Given the description of an element on the screen output the (x, y) to click on. 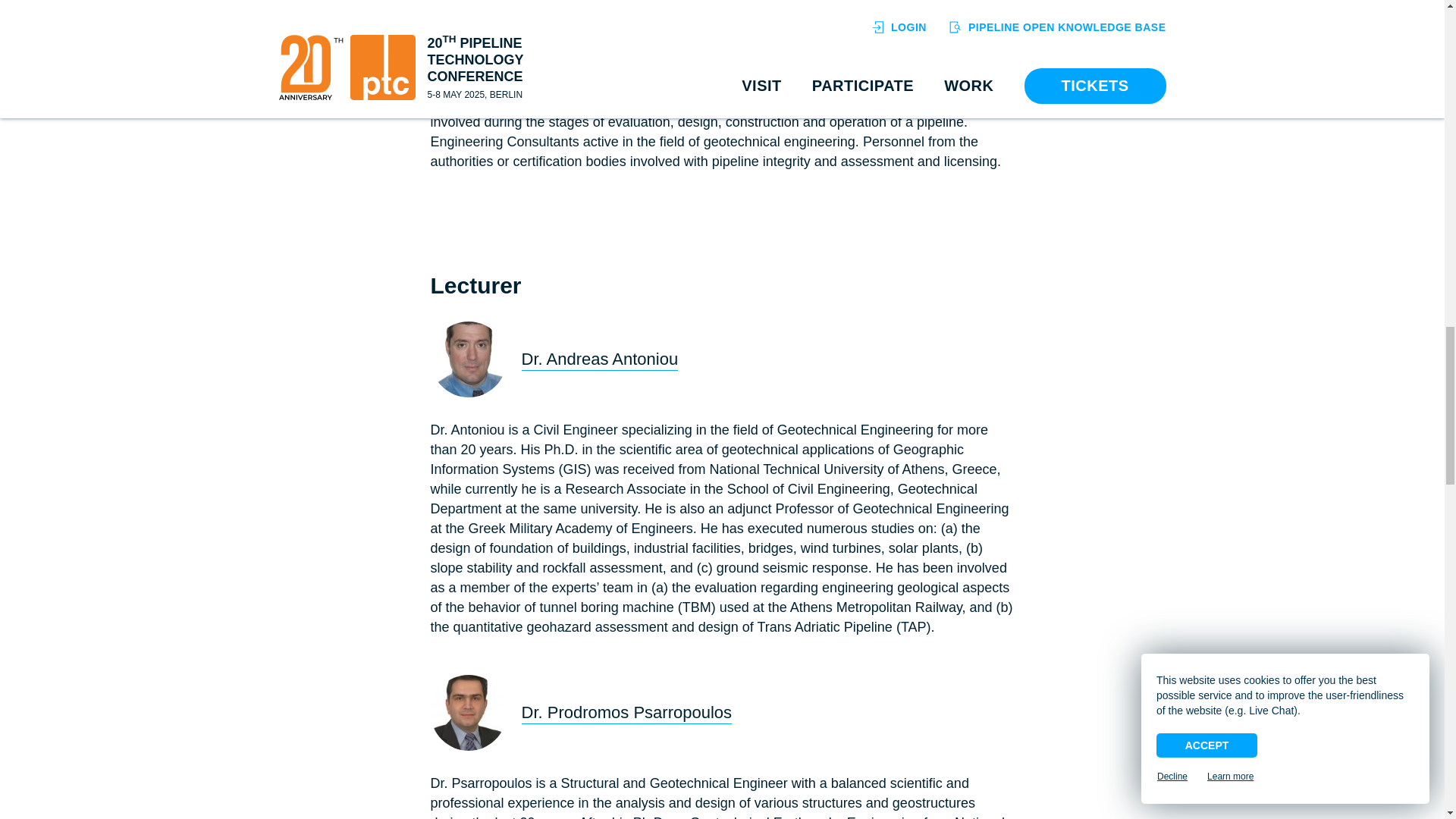
Dr. Andreas Antoniou (468, 359)
Dr. Prodromos Psarropoulos (468, 712)
